Given the description of an element on the screen output the (x, y) to click on. 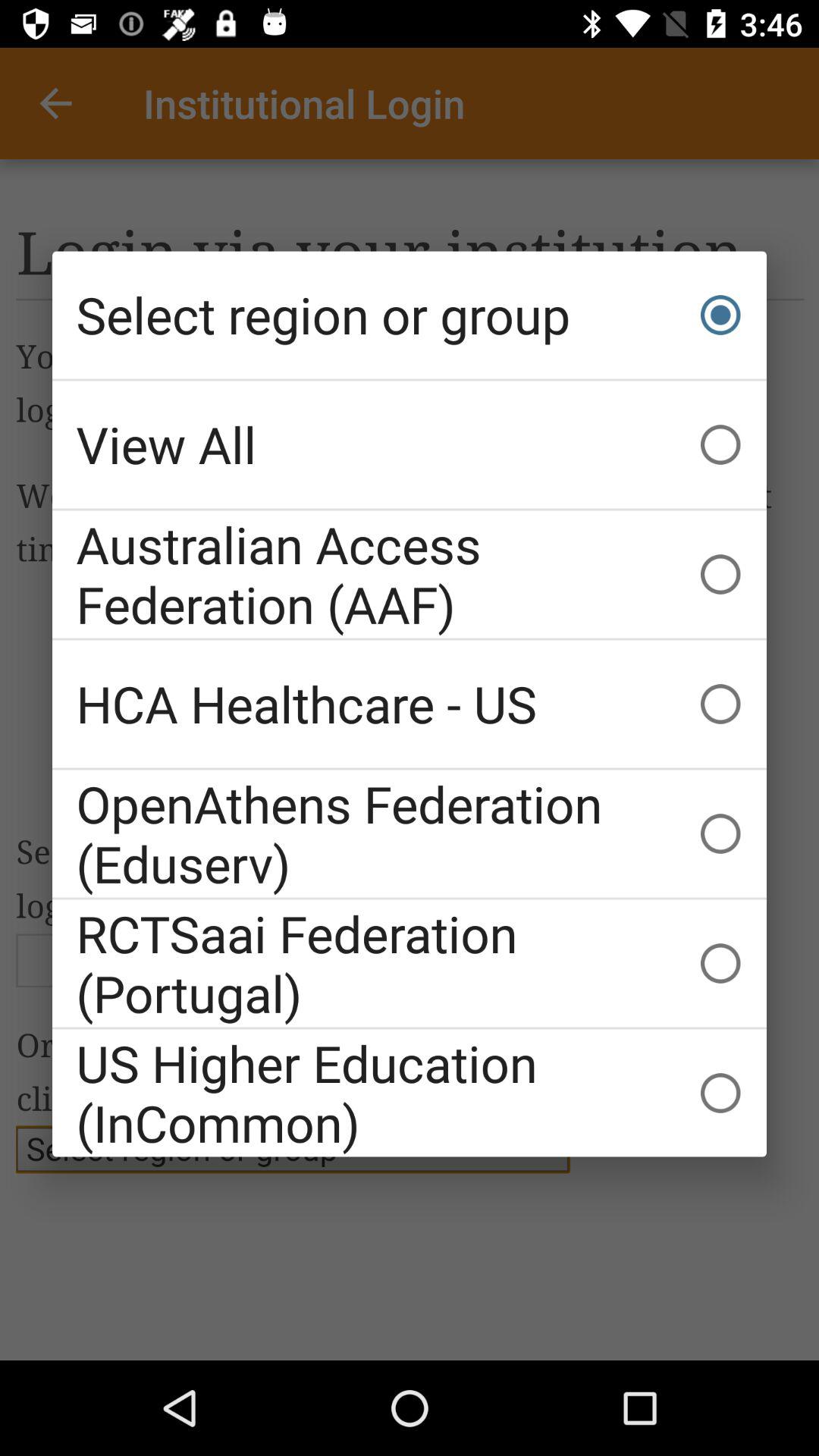
choose the us higher education (409, 1092)
